Given the description of an element on the screen output the (x, y) to click on. 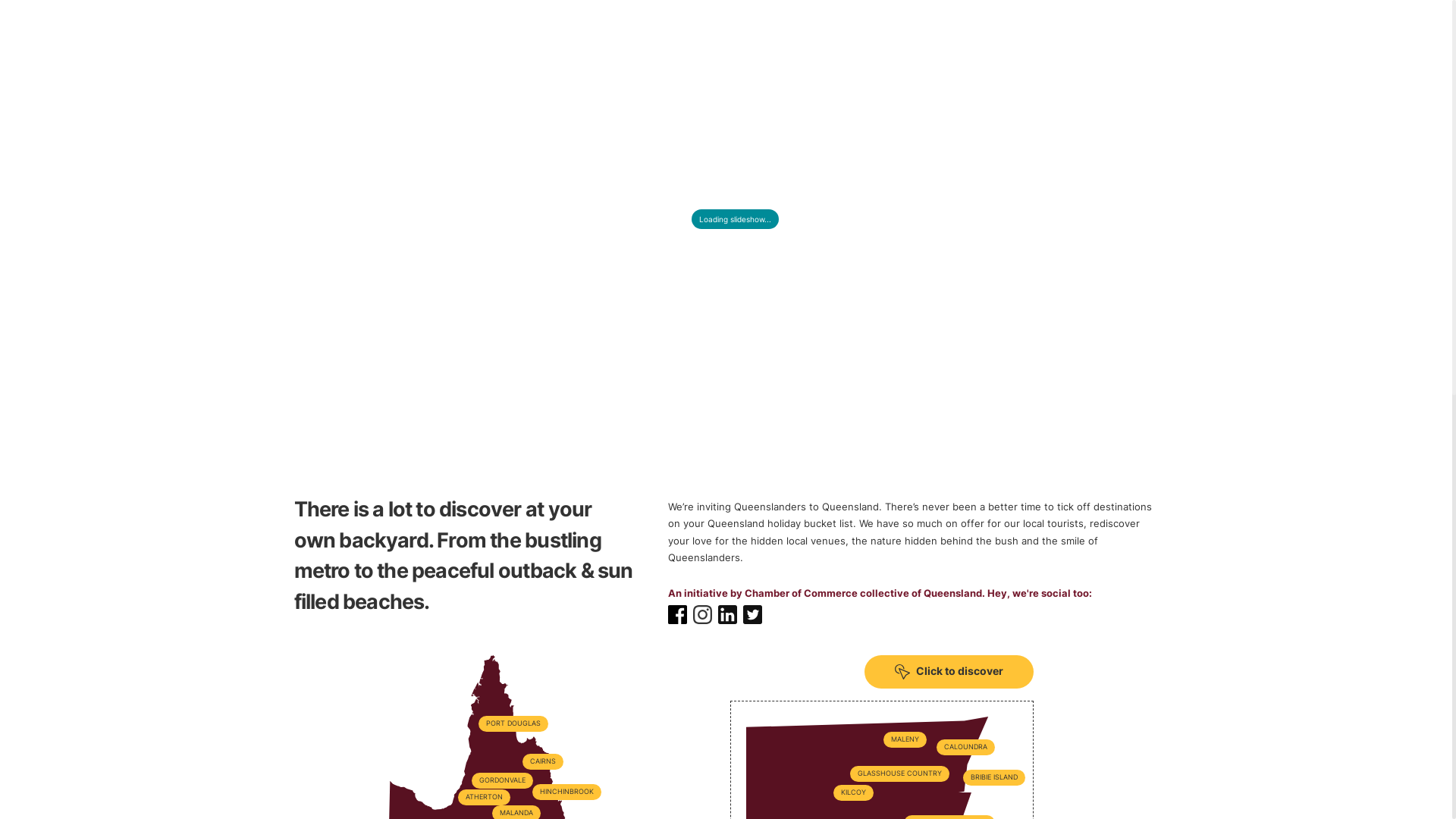
Click to discover Element type: text (948, 671)
About Element type: text (478, 359)
Explore Element type: text (377, 359)
